Given the description of an element on the screen output the (x, y) to click on. 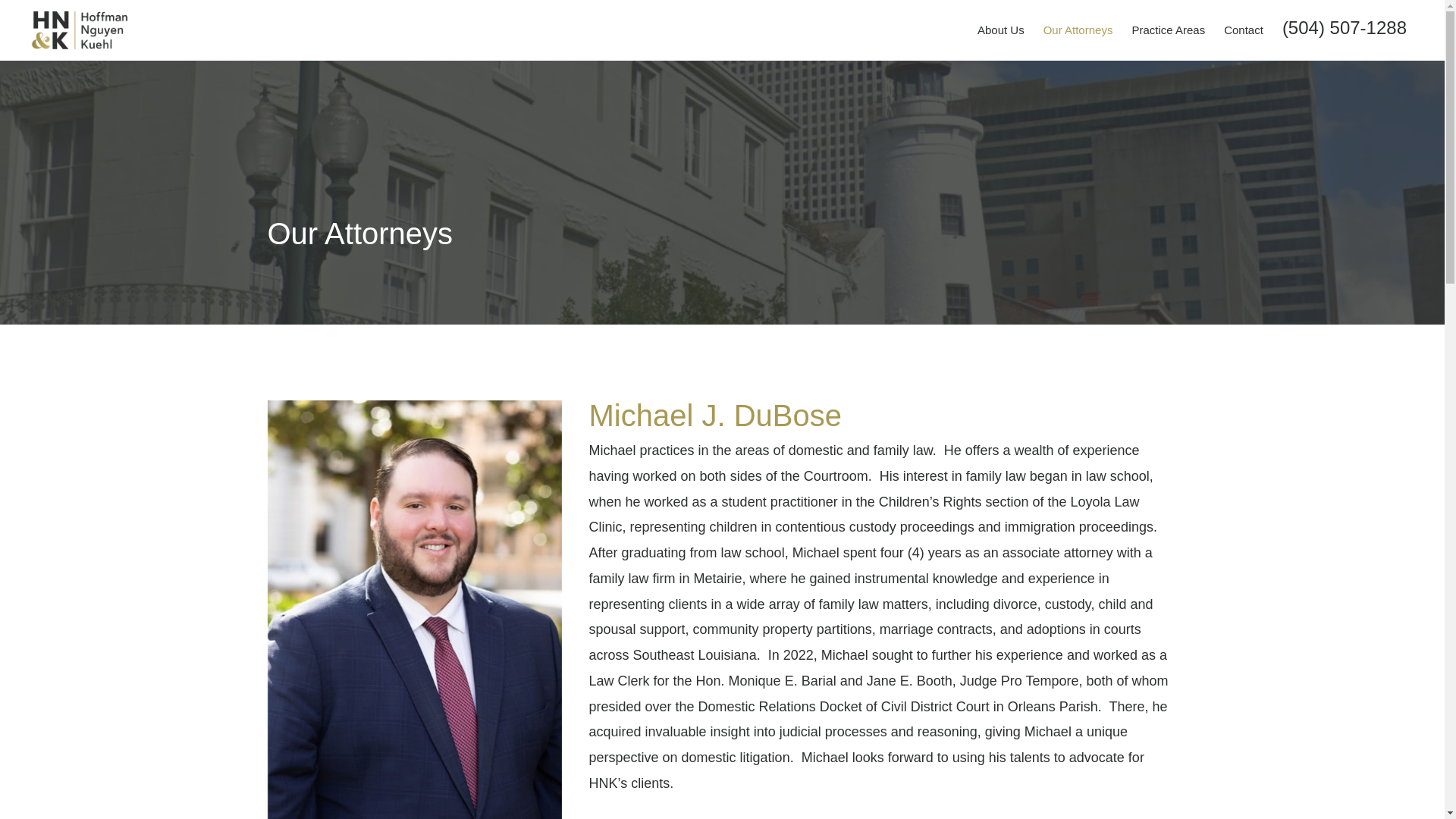
Contact (1243, 29)
Practice Areas (1168, 29)
Our Attorneys (1078, 29)
About Us (1000, 29)
